Given the description of an element on the screen output the (x, y) to click on. 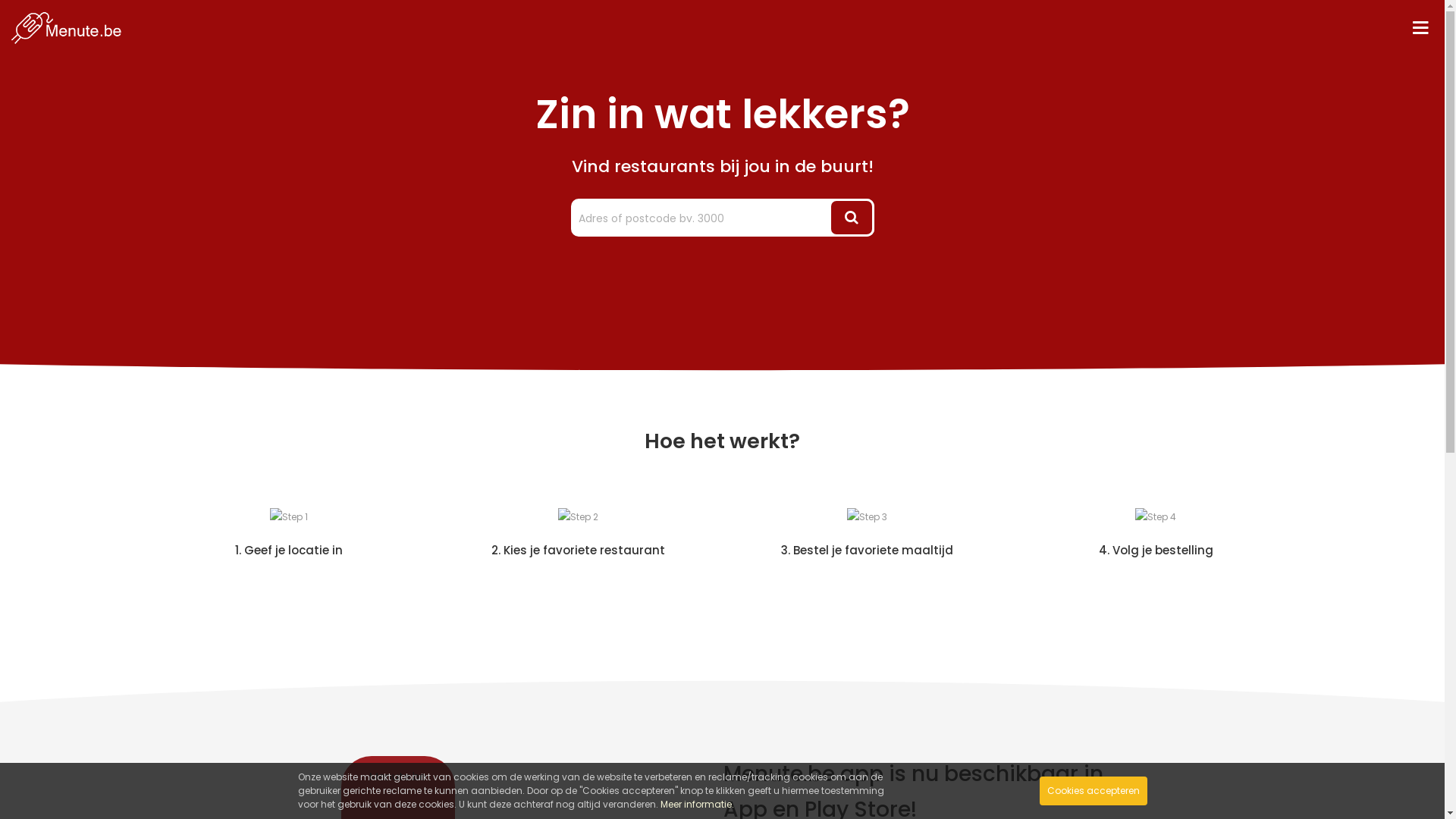
Step 1 Element type: hover (288, 517)
Step 2 Element type: hover (578, 517)
Meer informatie. Element type: text (696, 803)
Step 4 Element type: hover (1155, 517)
Cookies accepteren Element type: text (1092, 790)
Step 3 Element type: hover (866, 517)
